Given the description of an element on the screen output the (x, y) to click on. 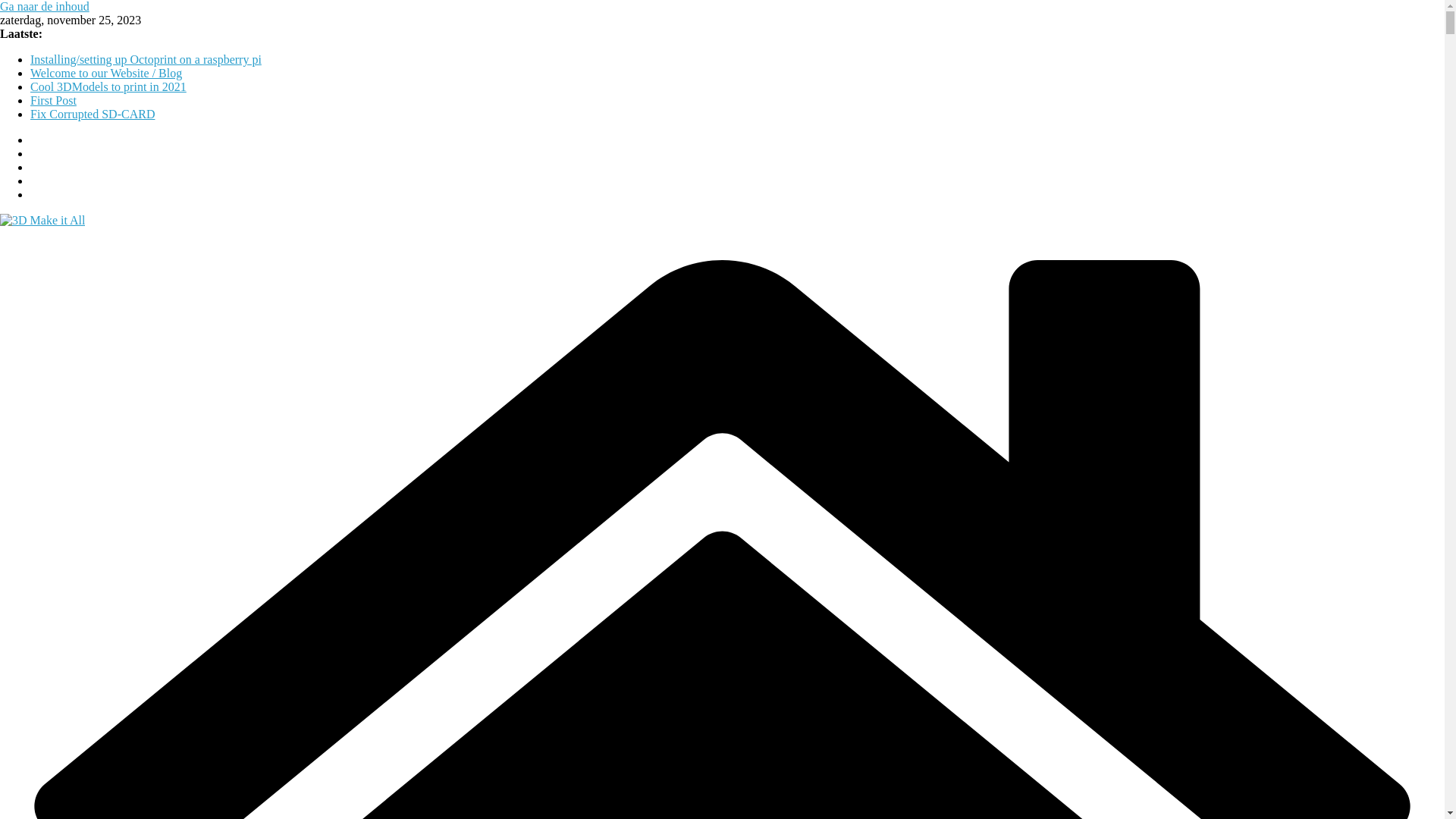
Ga naar de inhoud Element type: text (44, 6)
Cool 3DModels to print in 2021 Element type: text (108, 86)
First Post Element type: text (53, 100)
Installing/setting up Octoprint on a raspberry pi Element type: text (145, 59)
Fix Corrupted SD-CARD Element type: text (92, 113)
Welcome to our Website / Blog Element type: text (106, 72)
